Given the description of an element on the screen output the (x, y) to click on. 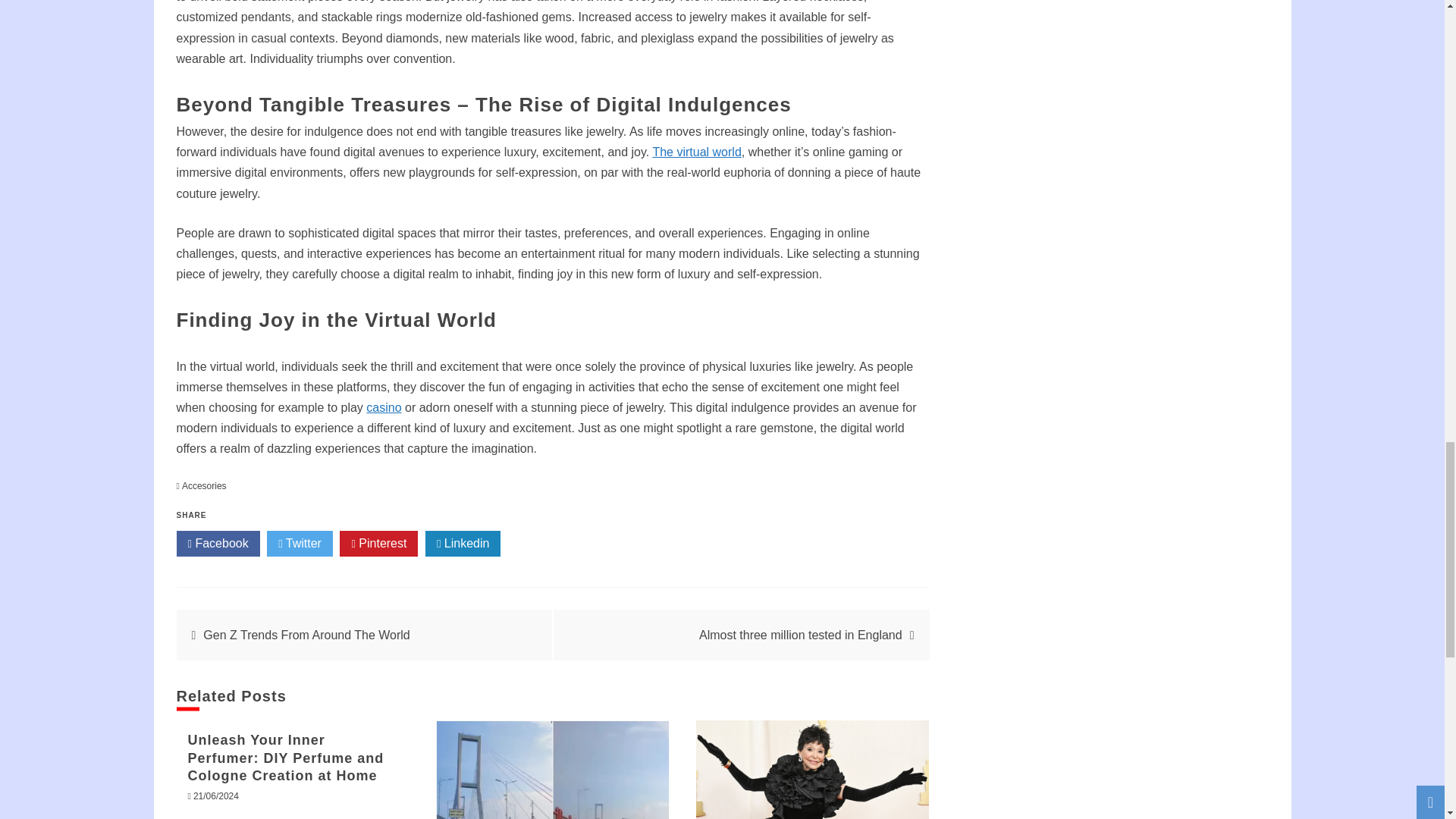
Facebook (217, 543)
casino (383, 407)
Linkedin (462, 543)
Twitter (299, 543)
Rita Moreno, 92, Debuts Major Hair Change at 2024 Oscars (812, 769)
Big Bridge Sways 2024 (552, 769)
Accesories (204, 485)
The virtual world (696, 151)
Pinterest (378, 543)
